Given the description of an element on the screen output the (x, y) to click on. 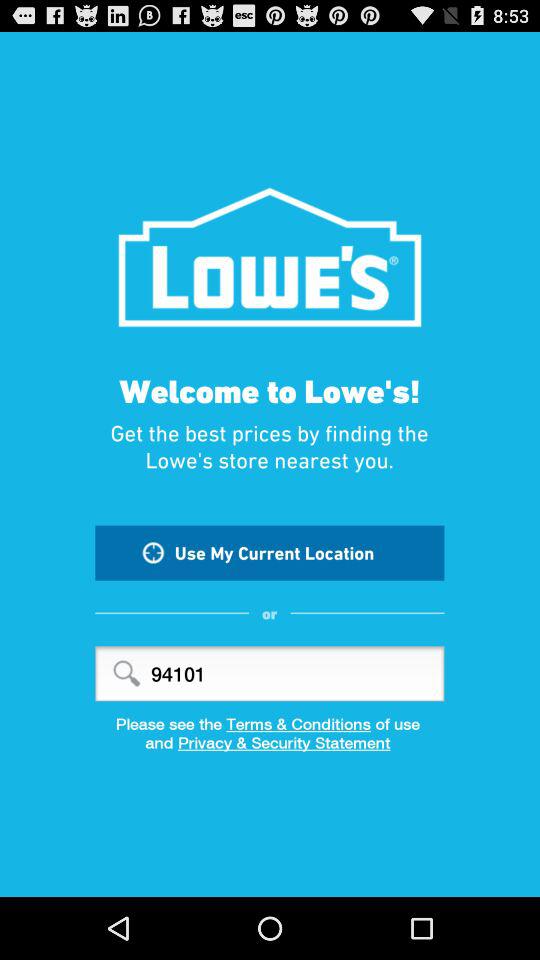
turn on the item above or icon (269, 552)
